Given the description of an element on the screen output the (x, y) to click on. 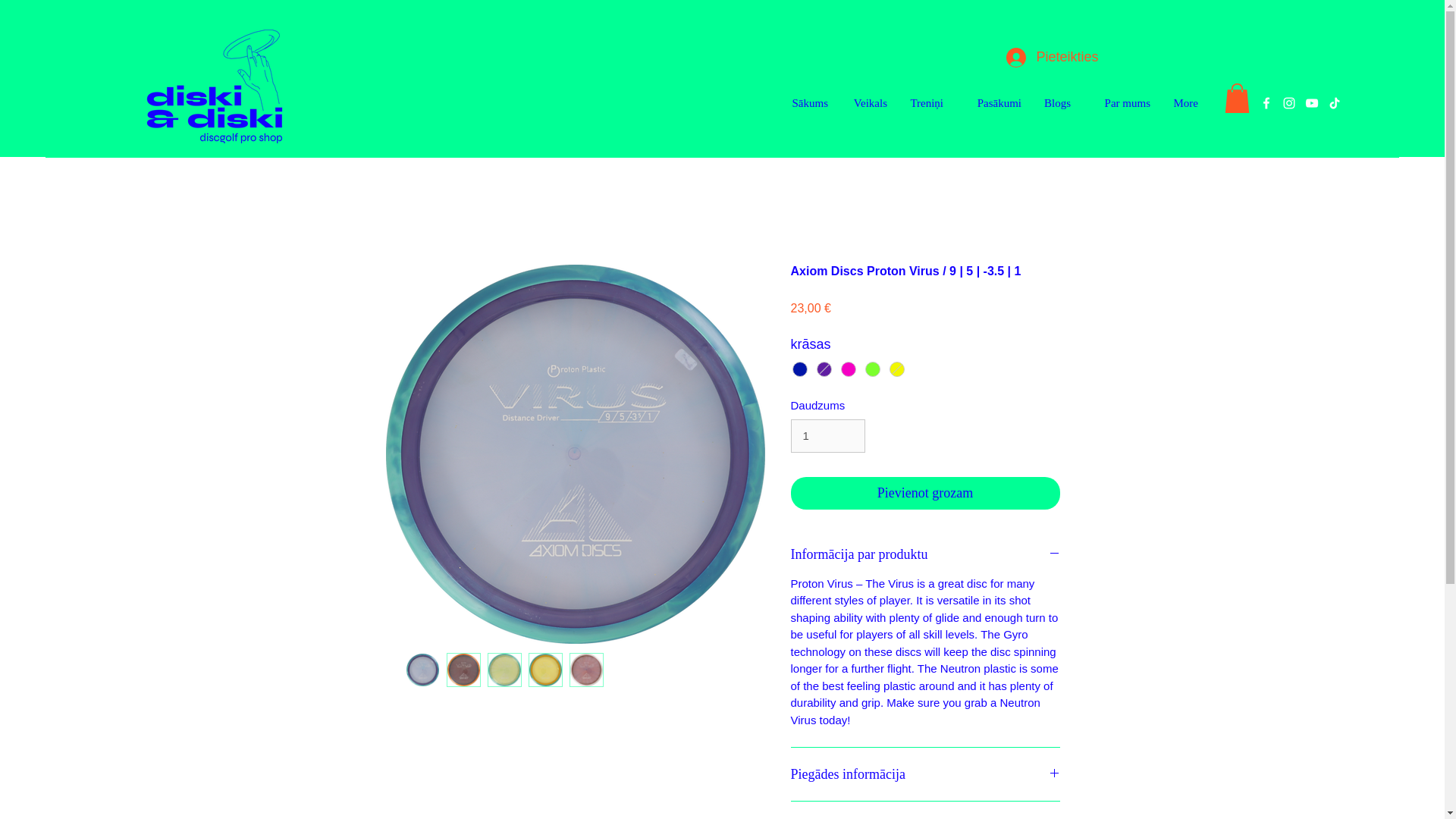
Pieteikties (1040, 57)
Blogs (1053, 102)
Pievienot grozam (924, 492)
Veikals (865, 102)
1 (827, 435)
Par mums (1117, 102)
